Given the description of an element on the screen output the (x, y) to click on. 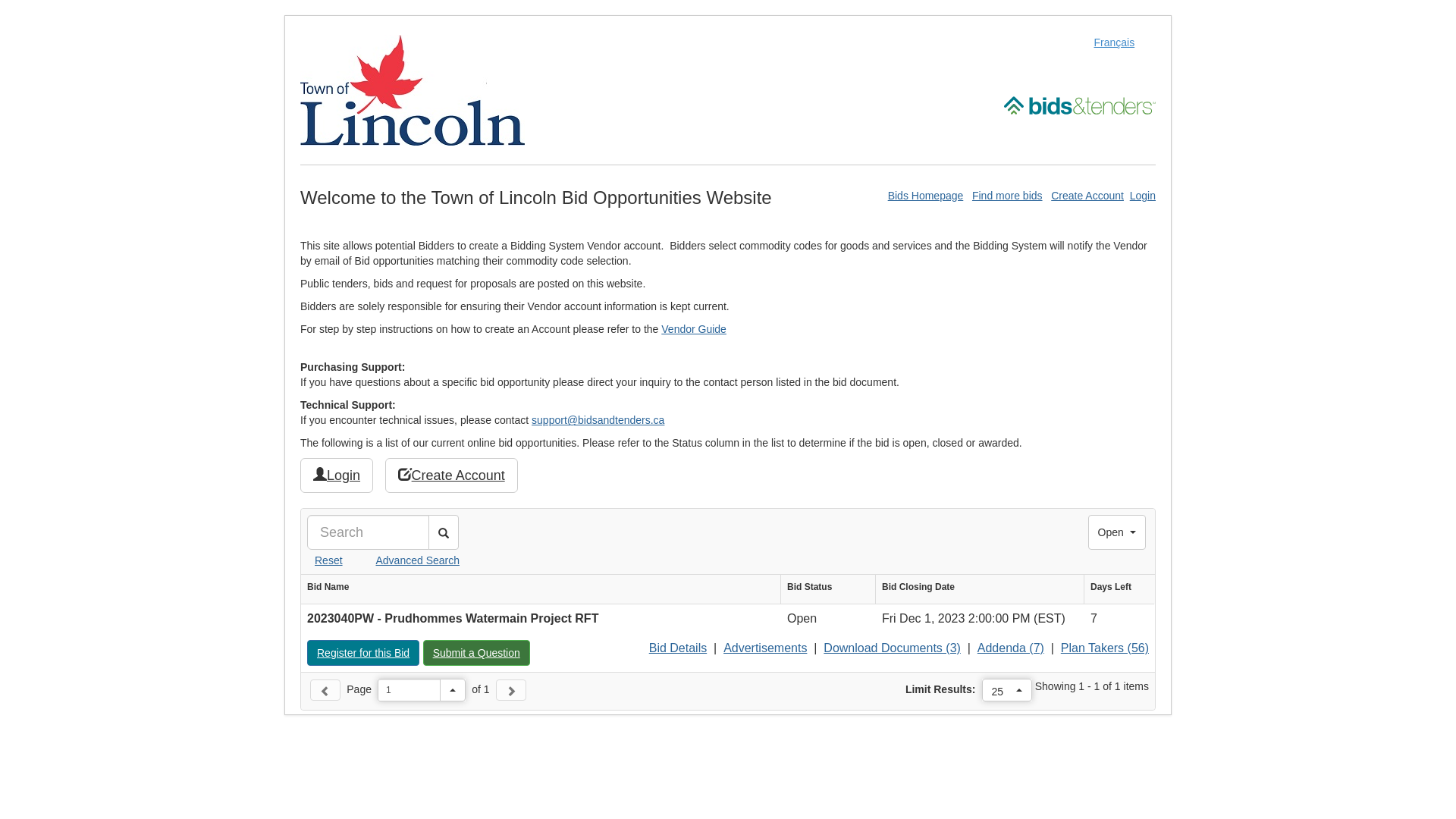
Bids Homepage Element type: text (925, 195)
Skip to Content (Press Enter) Element type: text (0, 0)
Search Element type: text (443, 531)
Toggle Drop Down Element type: text (452, 689)
Login Element type: text (1142, 195)
Next Page Element type: text (510, 689)
Advanced Search Element type: text (402, 560)
Reset Element type: text (324, 560)
Open
Toggle Filters Element type: text (1116, 531)
Vendor Guide Element type: text (693, 329)
Login Element type: text (336, 475)
support@bidsandtenders.ca Element type: text (597, 420)
25
Toggle Drop Down Element type: text (1007, 689)
Open Town of Lincoln site in a new window Element type: hover (412, 89)
Create Account Element type: text (1087, 195)
Previous Page Element type: text (325, 689)
Open Bids and Tenders site in a new window Element type: hover (1079, 104)
Find more bids Element type: text (1007, 195)
Create Account Element type: text (451, 475)
